Given the description of an element on the screen output the (x, y) to click on. 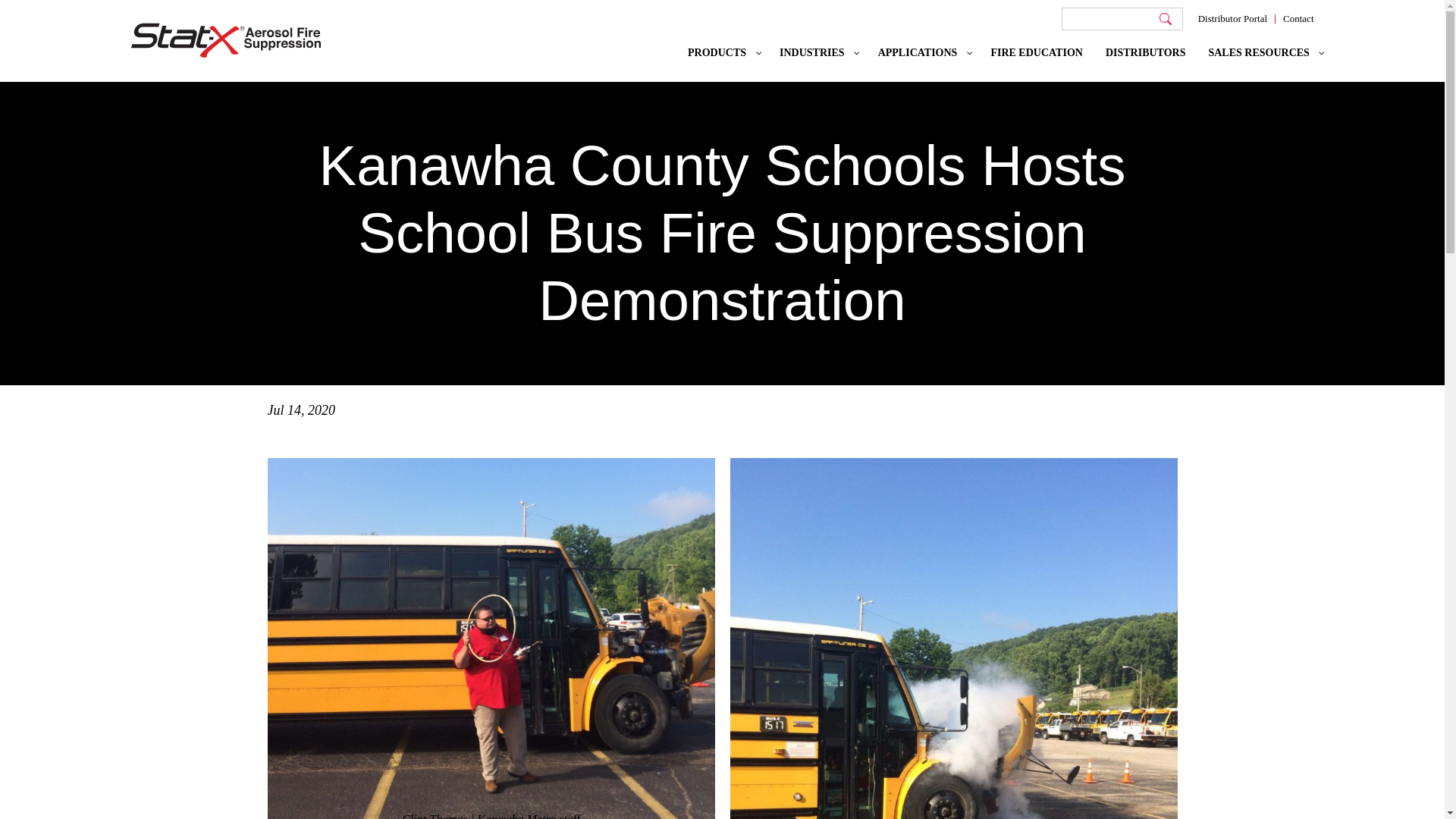
Distributor Portal (1232, 18)
Contact (1297, 18)
Search (1165, 18)
Search (1165, 18)
